Given the description of an element on the screen output the (x, y) to click on. 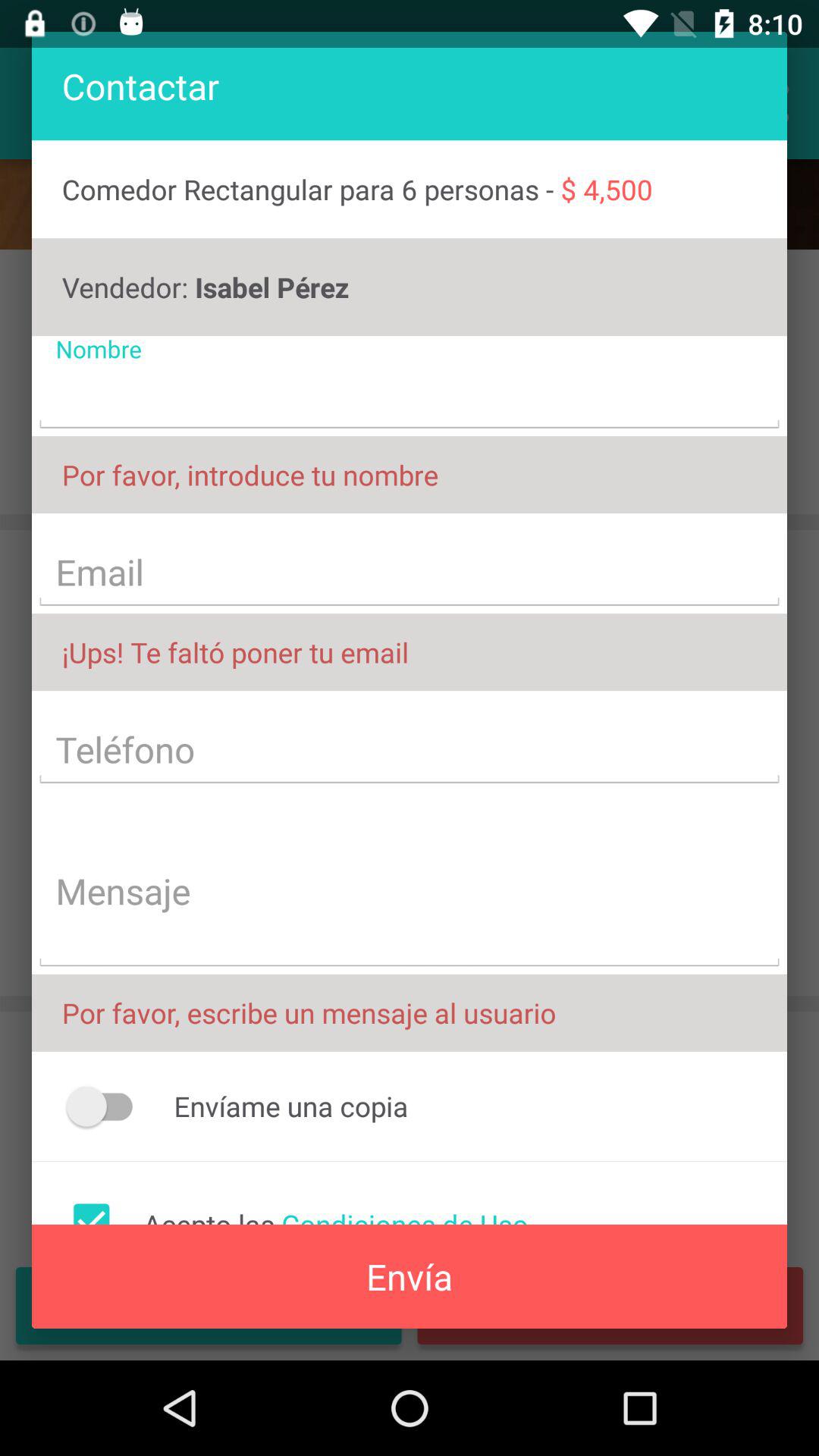
click on the text below email option (409, 651)
select text field with text email on page (409, 573)
